Given the description of an element on the screen output the (x, y) to click on. 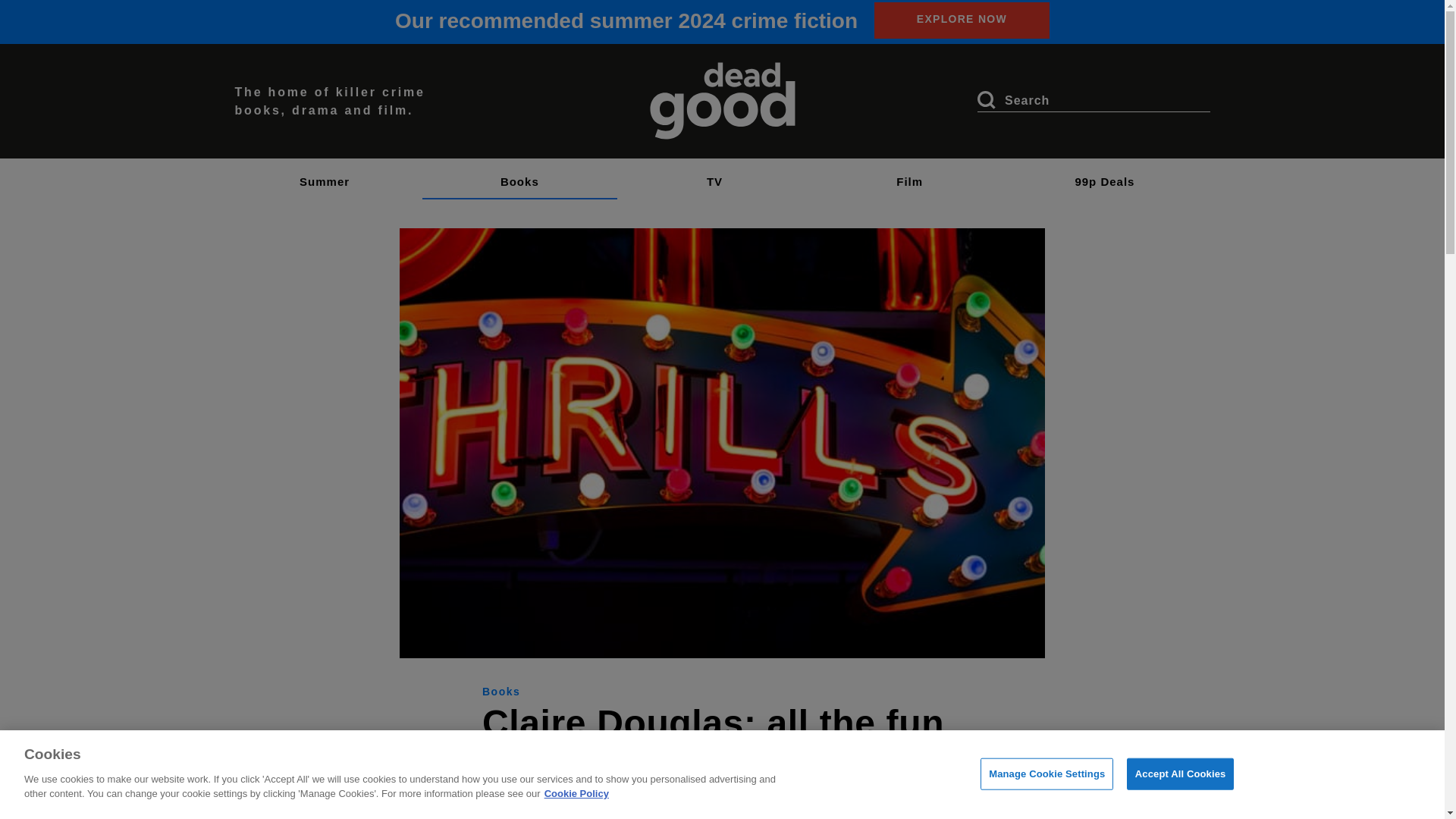
TV (714, 175)
99p Deals (1104, 175)
Summer (324, 175)
EXPLORE NOW (962, 20)
Search (985, 99)
TV (714, 175)
Film (909, 175)
Search (985, 99)
Film (909, 175)
Books (519, 175)
